Given the description of an element on the screen output the (x, y) to click on. 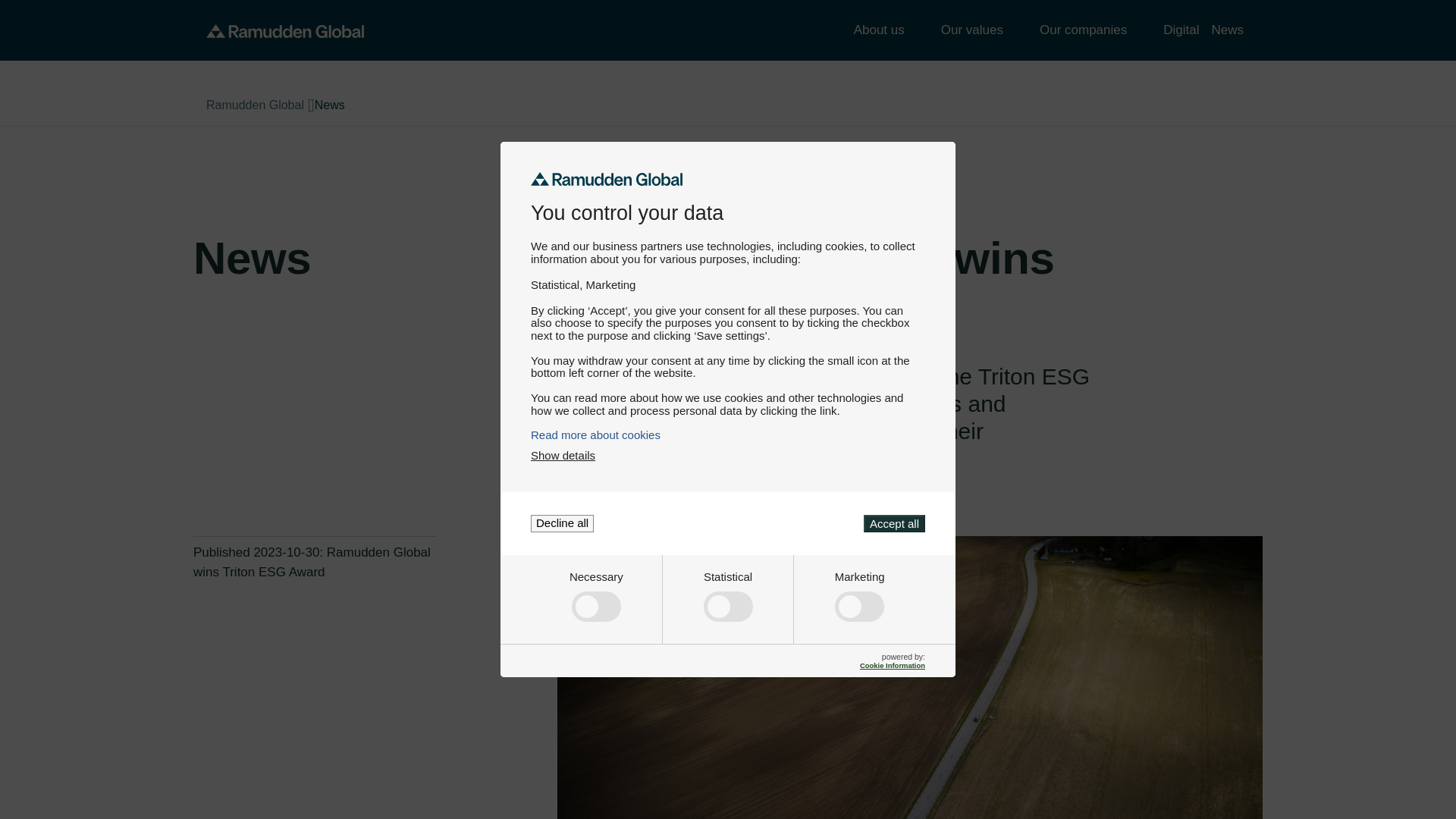
Ramudden Global (285, 30)
Decline all (562, 523)
Read more about cookies (727, 434)
Show details (563, 454)
Accept all (893, 523)
Cookie Information (892, 664)
